Given the description of an element on the screen output the (x, y) to click on. 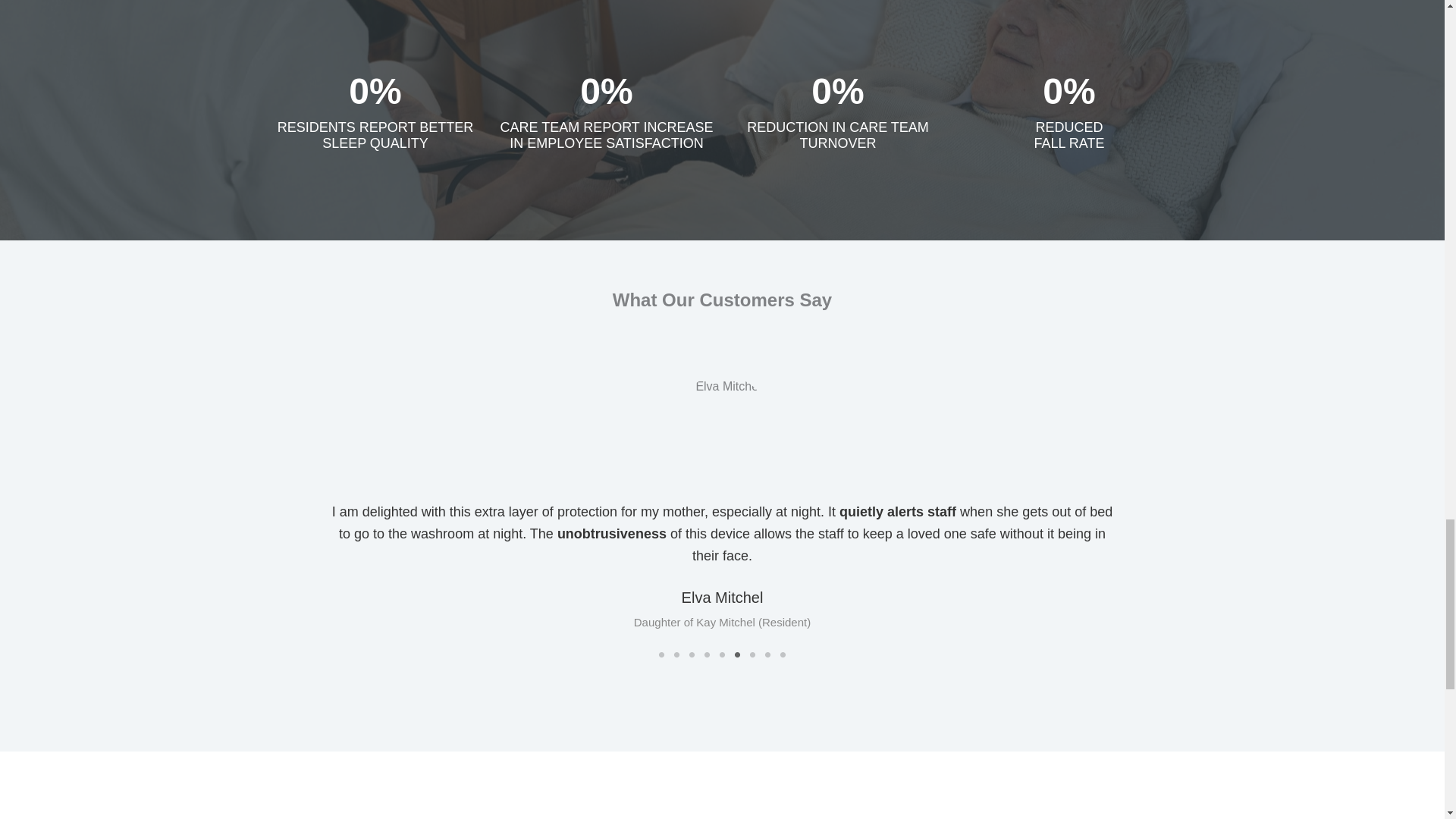
3 (691, 654)
9 (782, 654)
4 (706, 654)
7 (752, 654)
2 (676, 654)
1 (660, 654)
6 (736, 654)
8 (767, 654)
5 (721, 654)
